Given the description of an element on the screen output the (x, y) to click on. 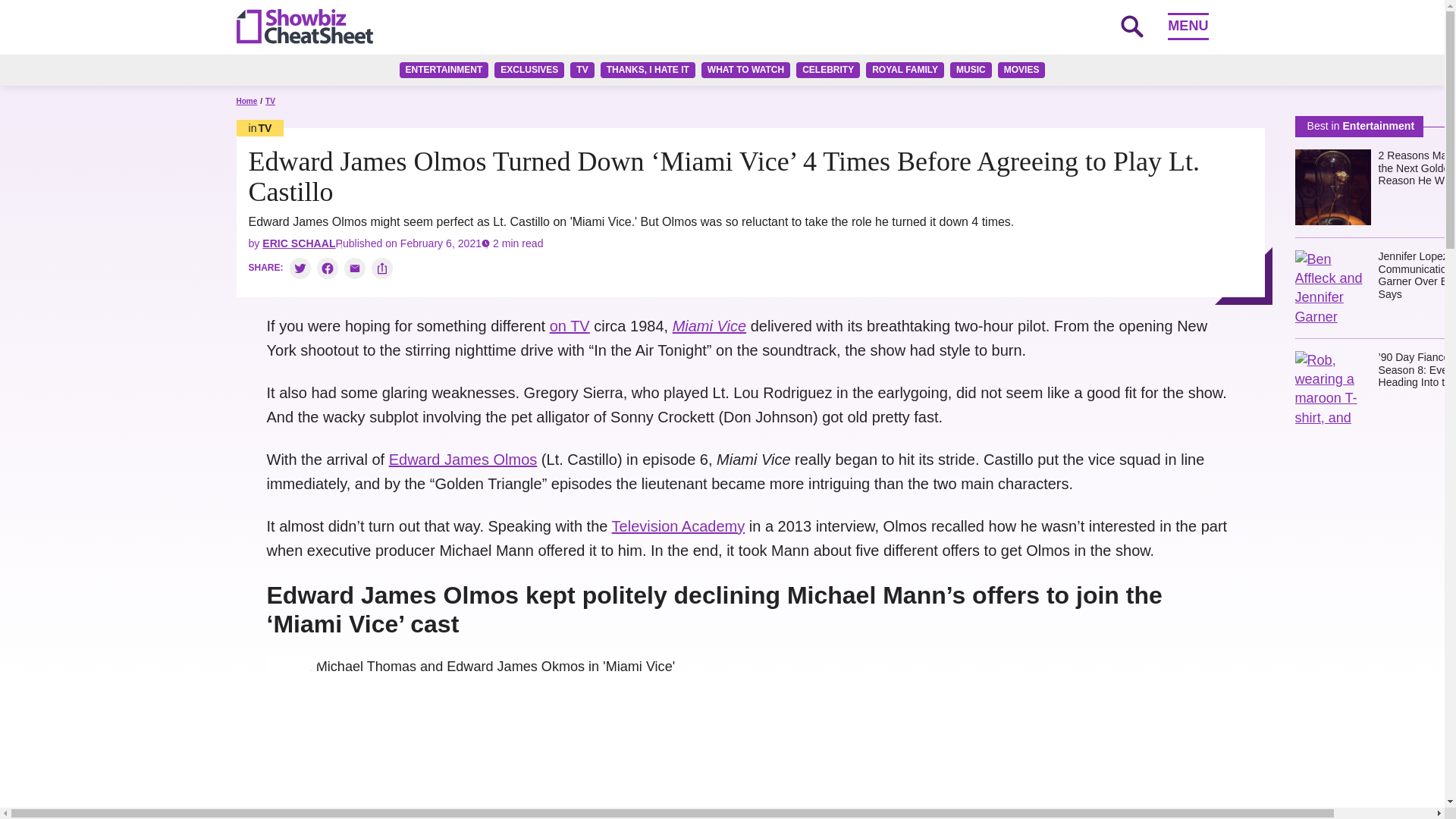
Share via email: (354, 268)
CELEBRITY (828, 69)
Expand Search (1131, 26)
THANKS, I HATE IT (647, 69)
WHAT TO WATCH (745, 69)
TV (269, 101)
TV (582, 69)
ERIC SCHAAL (298, 243)
MENU (1187, 26)
Share on Twitter: (300, 268)
Copy link (382, 268)
ENTERTAINMENT (443, 69)
on TV (569, 325)
TV (259, 127)
